Given the description of an element on the screen output the (x, y) to click on. 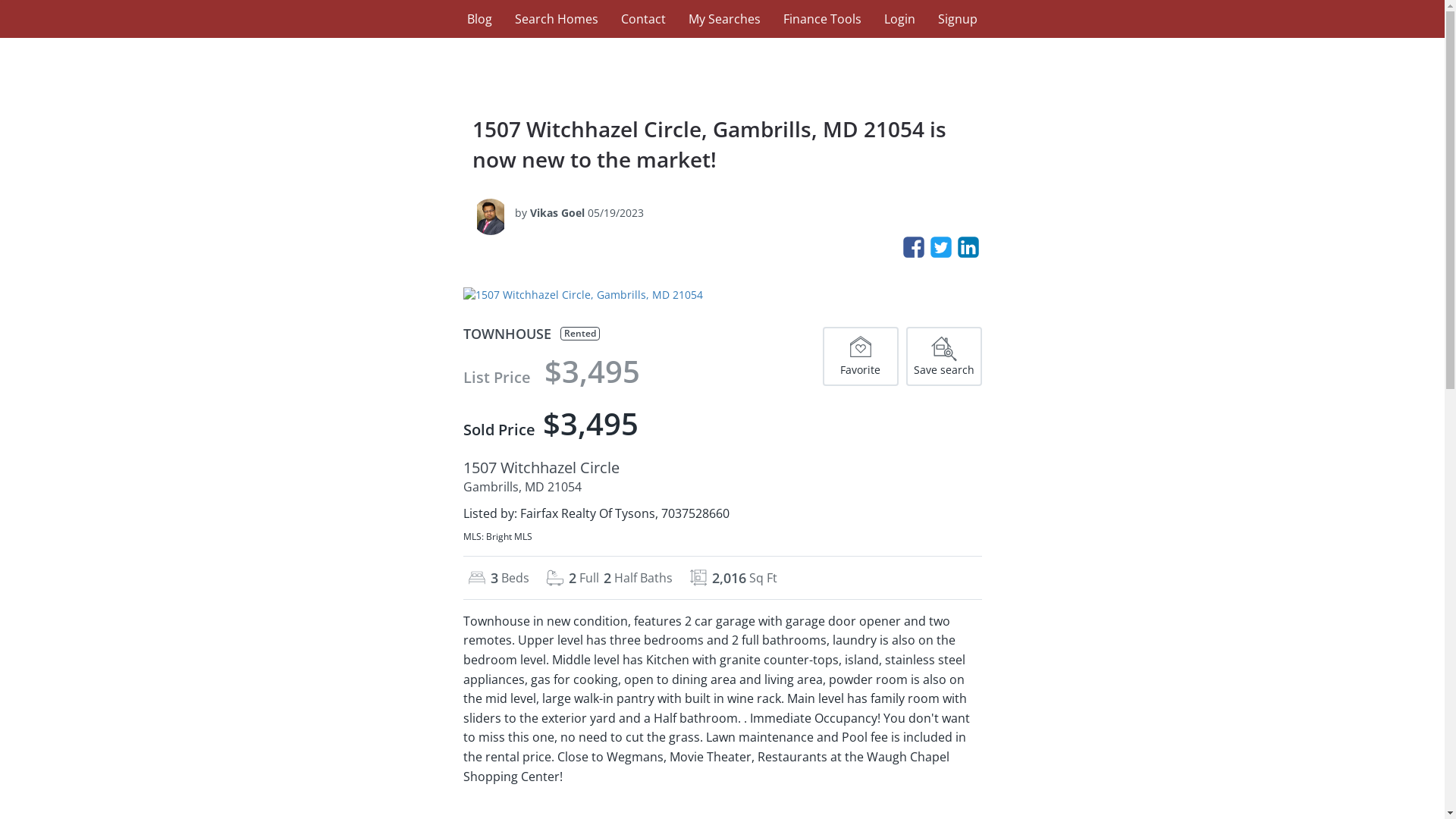
Save search Element type: text (943, 355)
Finance Tools Element type: text (821, 18)
Favorite Element type: text (859, 355)
Contact Element type: text (643, 18)
Signup Element type: text (957, 18)
My Searches Element type: text (724, 18)
Login Element type: text (899, 18)
Blog Element type: text (479, 18)
Search Homes Element type: text (556, 18)
